Given the description of an element on the screen output the (x, y) to click on. 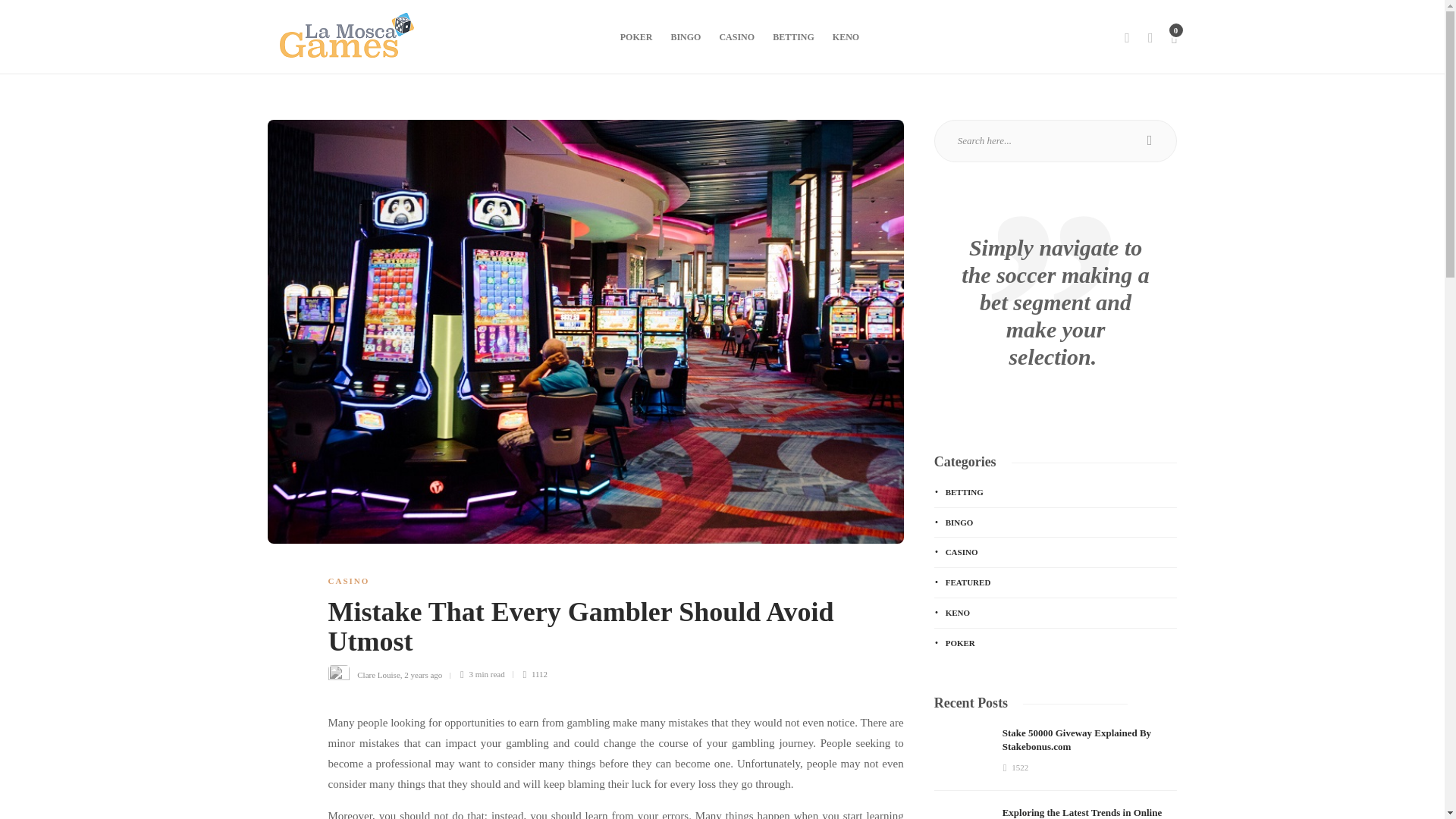
CASINO (348, 580)
Search text (1055, 140)
Clare Louise (378, 673)
Mistake That Every Gambler Should Avoid Utmost  (603, 631)
2 years ago (423, 673)
